Given the description of an element on the screen output the (x, y) to click on. 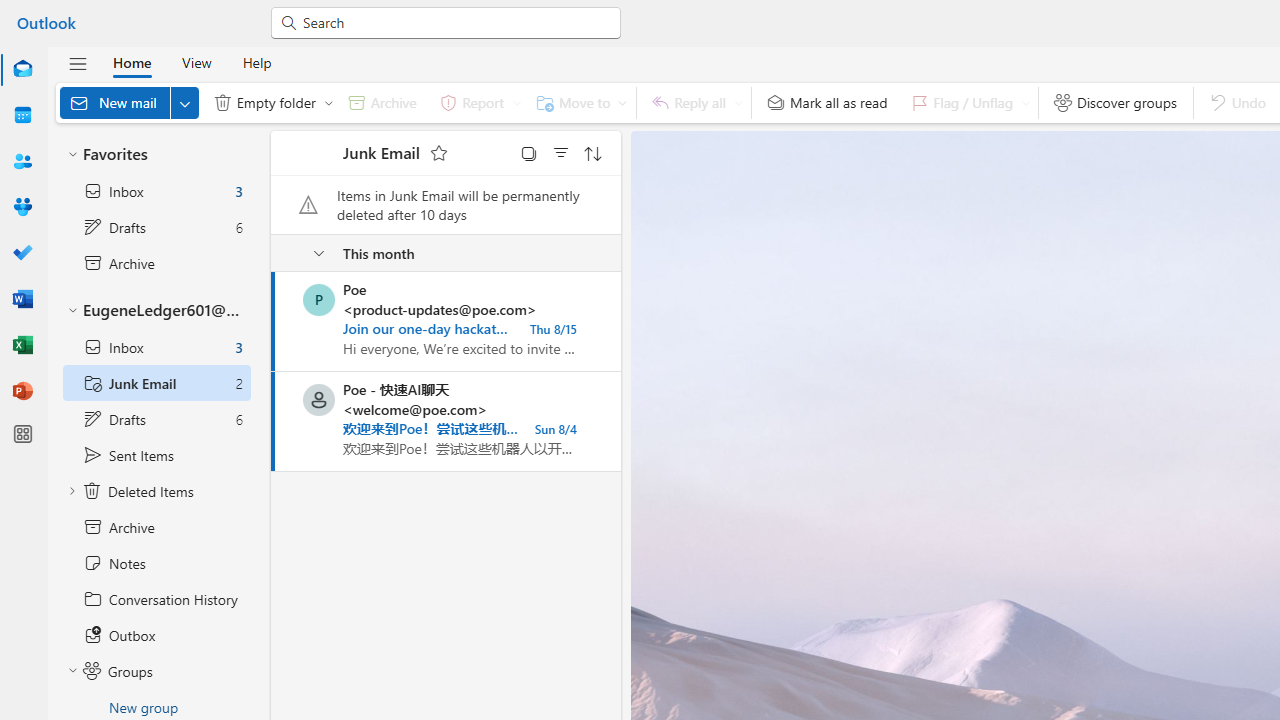
Inbox 3 unread (156, 347)
Sorted: By Date (593, 152)
Notes (156, 563)
Flag / Unflag (966, 102)
Empty folder (269, 102)
Reply all (693, 102)
Favoriting adds the category to your folder pane (438, 152)
Archive (381, 102)
Expand to see flag options (1025, 102)
PowerPoint (22, 391)
Select a message (305, 399)
Word (22, 299)
Mark all as read (827, 102)
Move to (577, 102)
